Given the description of an element on the screen output the (x, y) to click on. 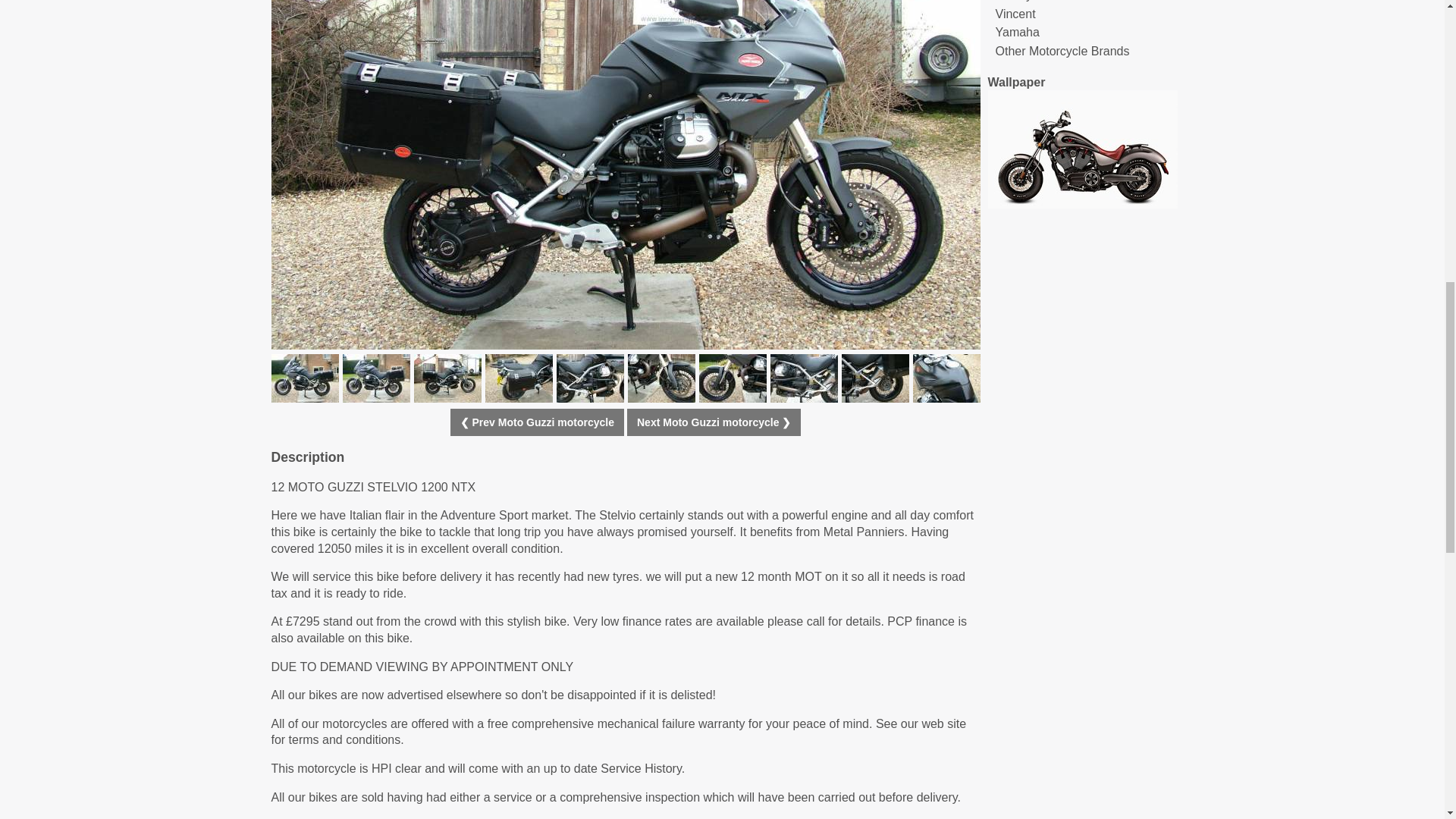
Picture 3 - 12 MOTO GUZZI STELVIO NTX (376, 377)
Picture 7 - 12 MOTO GUZZI STELVIO NTX (661, 377)
Picture 4 - 12 MOTO GUZZI STELVIO NTX (447, 377)
Picture 11 - 12 MOTO GUZZI STELVIO NTX (945, 377)
Picture 8 - 12 MOTO GUZZI STELVIO NTX (732, 377)
Picture 9 - 12 MOTO GUZZI STELVIO NTX (804, 377)
Picture 2 - 12 MOTO GUZZI STELVIO NTX (304, 377)
Next Moto Guzzi motorcycle (713, 422)
Picture 5 - 12 MOTO GUZZI STELVIO NTX (518, 377)
